Given the description of an element on the screen output the (x, y) to click on. 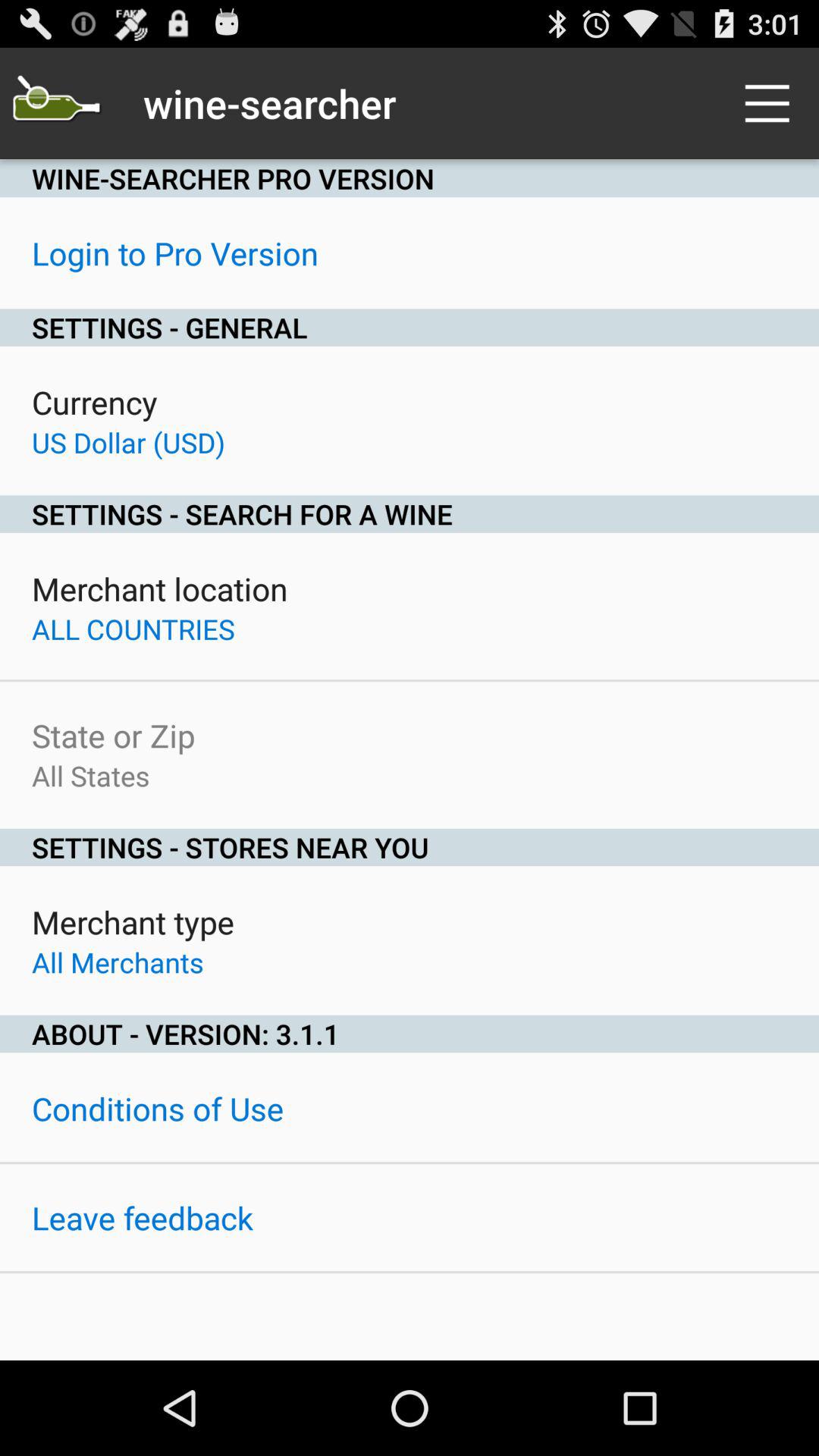
choose icon below settings - general icon (94, 401)
